Given the description of an element on the screen output the (x, y) to click on. 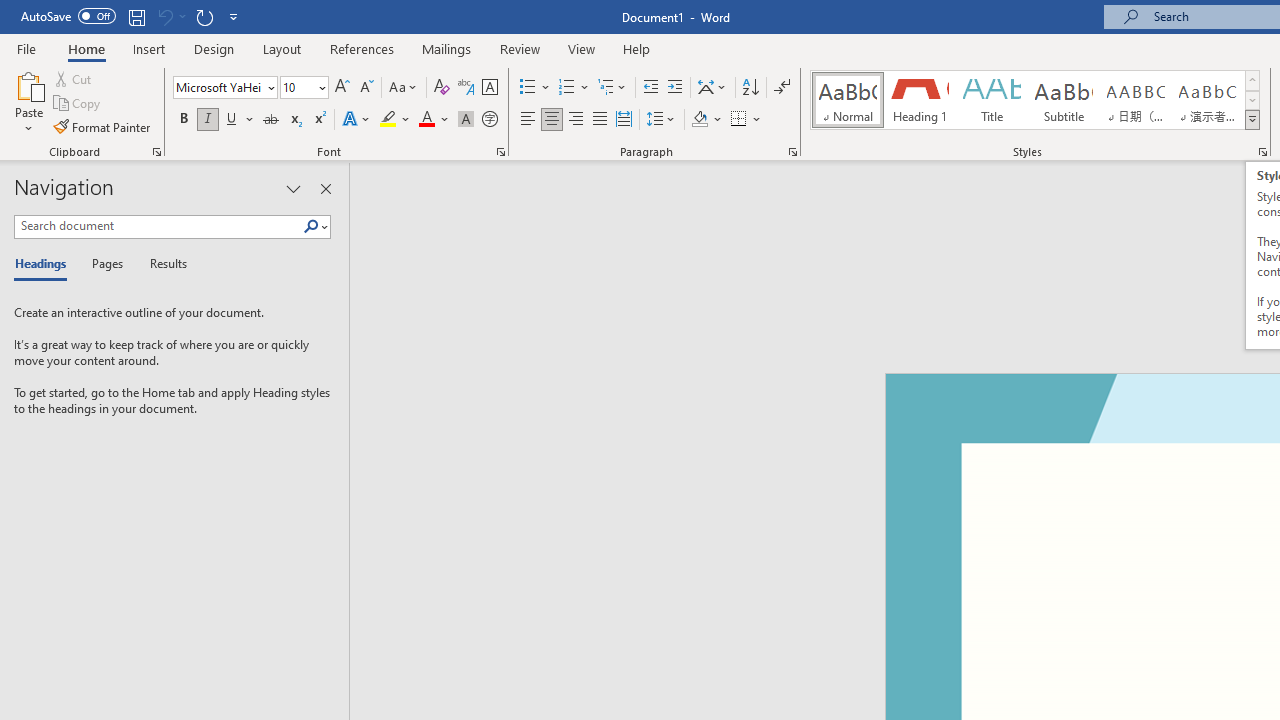
Line and Paragraph Spacing (661, 119)
Change Case (404, 87)
Results (161, 264)
Headings (45, 264)
AutomationID: QuickStylesGallery (1035, 99)
Cut (73, 78)
Superscript (319, 119)
Multilevel List (613, 87)
Enclose Characters... (489, 119)
